Given the description of an element on the screen output the (x, y) to click on. 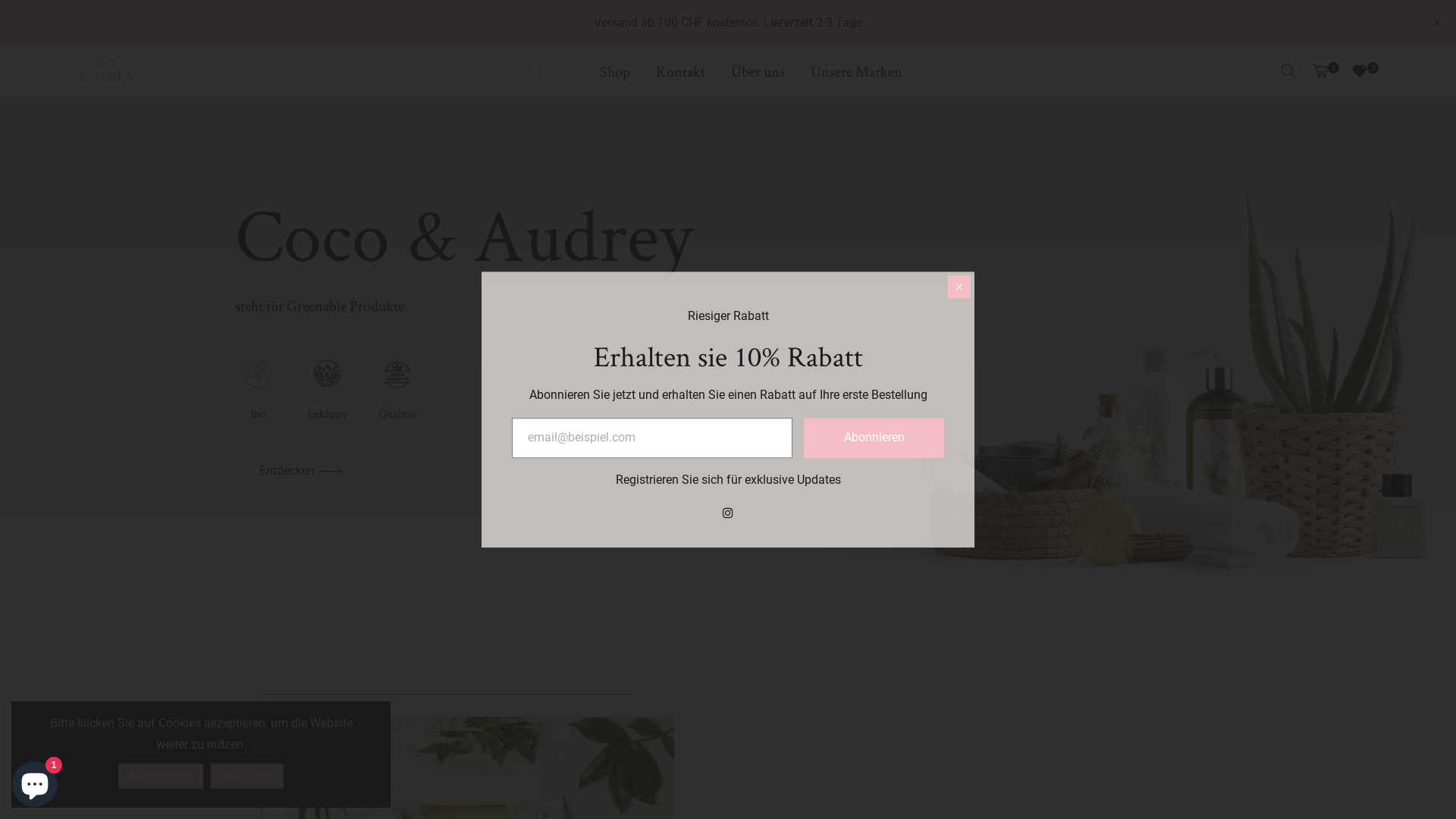
Onlineshop-Chat von Shopify Element type: hover (34, 780)
Unsere Marken Element type: text (856, 71)
Kontakt Element type: text (680, 71)
Entdecken Element type: text (301, 471)
Home Element type: text (555, 71)
Instagram Element type: hover (727, 512)
Coco & Audrey Element type: hover (104, 70)
Akzeptieren Element type: text (160, 775)
Abonnieren Element type: text (873, 437)
0 Element type: text (1363, 70)
0 Element type: text (1324, 70)
Ablehnen Element type: text (246, 775)
Shop Element type: text (614, 71)
